Given the description of an element on the screen output the (x, y) to click on. 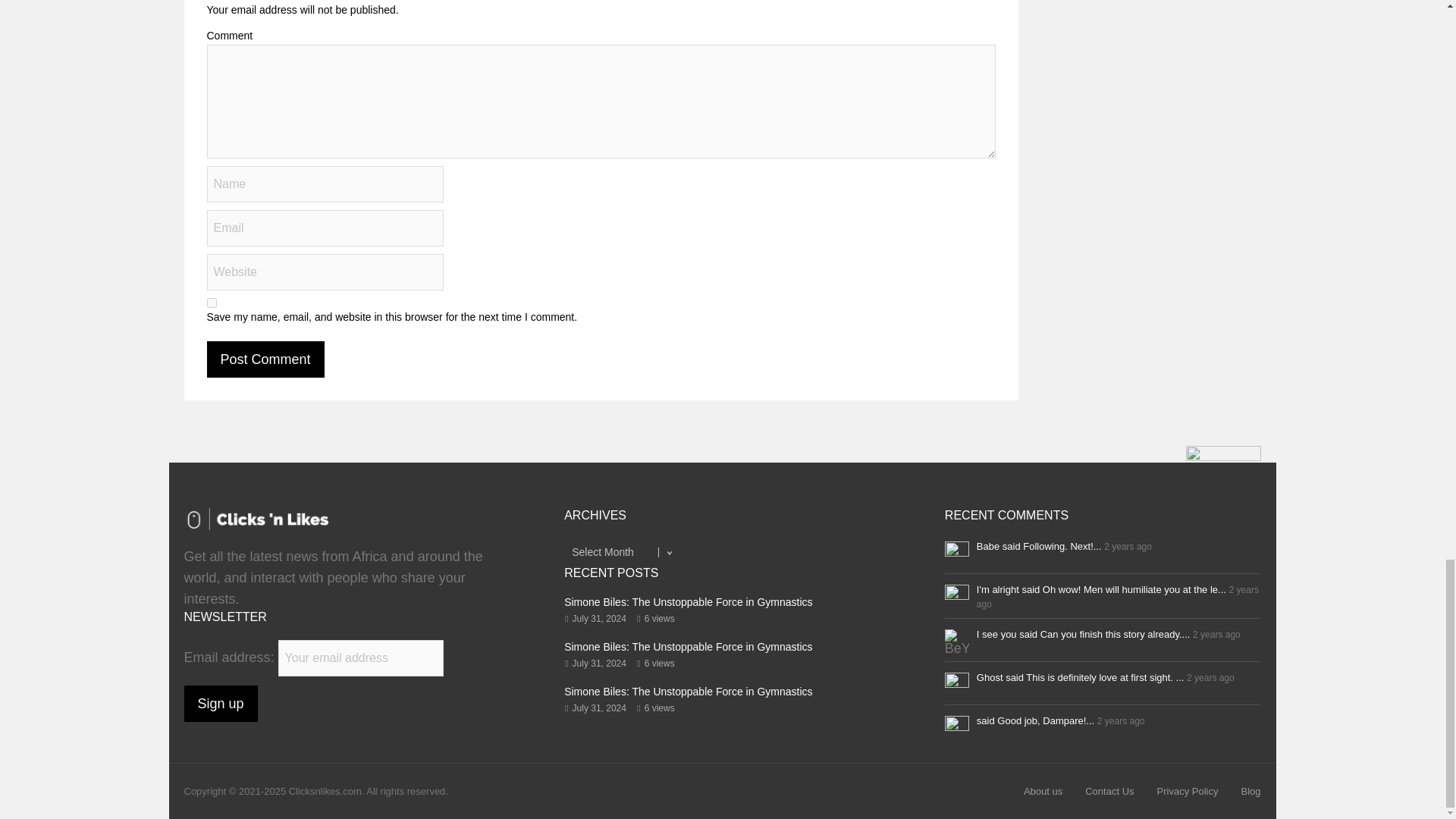
yes (210, 302)
Sign up (220, 703)
Post Comment (264, 359)
